Given the description of an element on the screen output the (x, y) to click on. 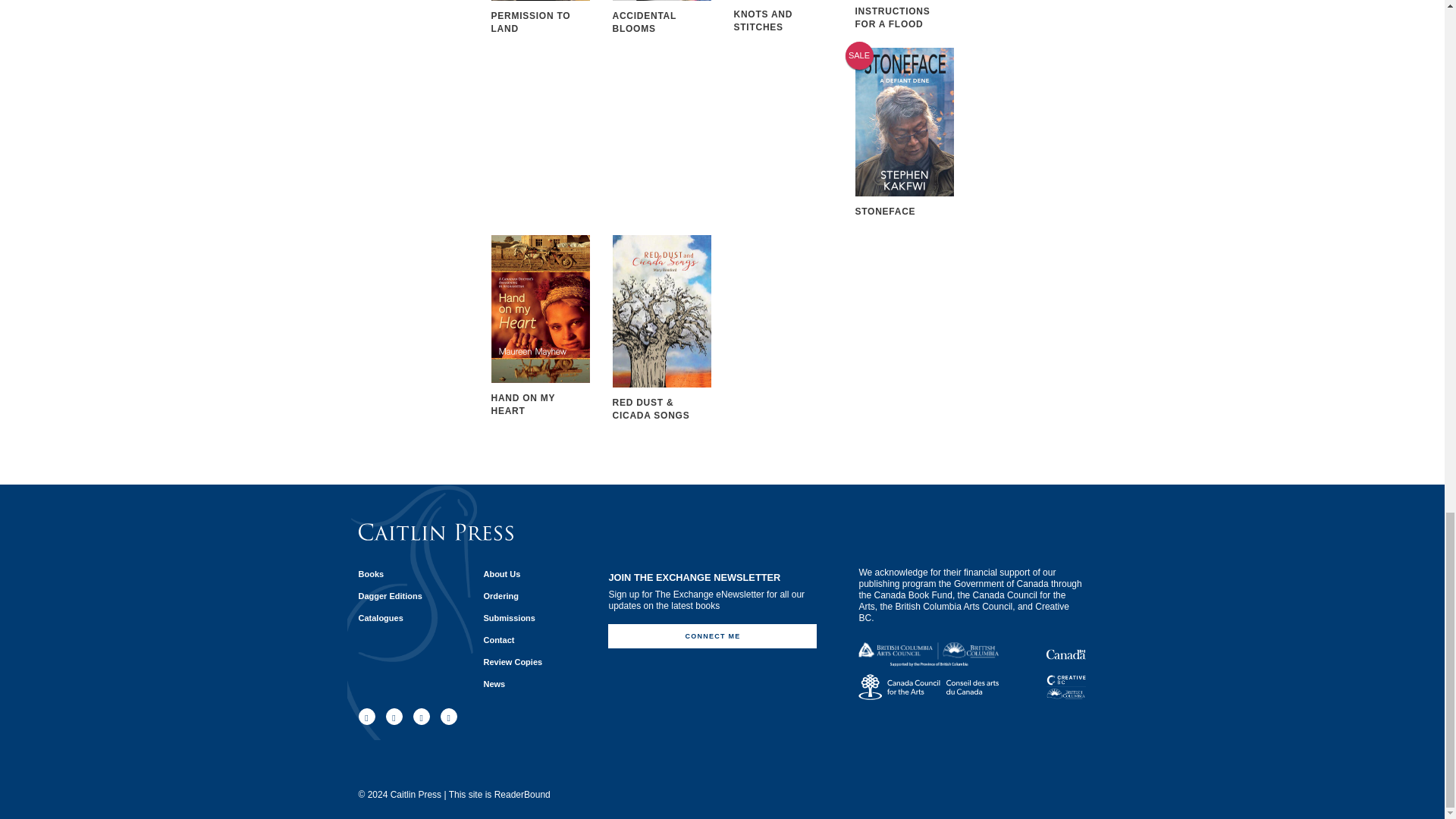
View Knots and Stitches (782, 17)
View Hand on My Heart (540, 326)
View Accidental Blooms (661, 18)
View Instructions for a Flood (904, 15)
View Stoneface (904, 132)
View Permission to Land (540, 18)
